Given the description of an element on the screen output the (x, y) to click on. 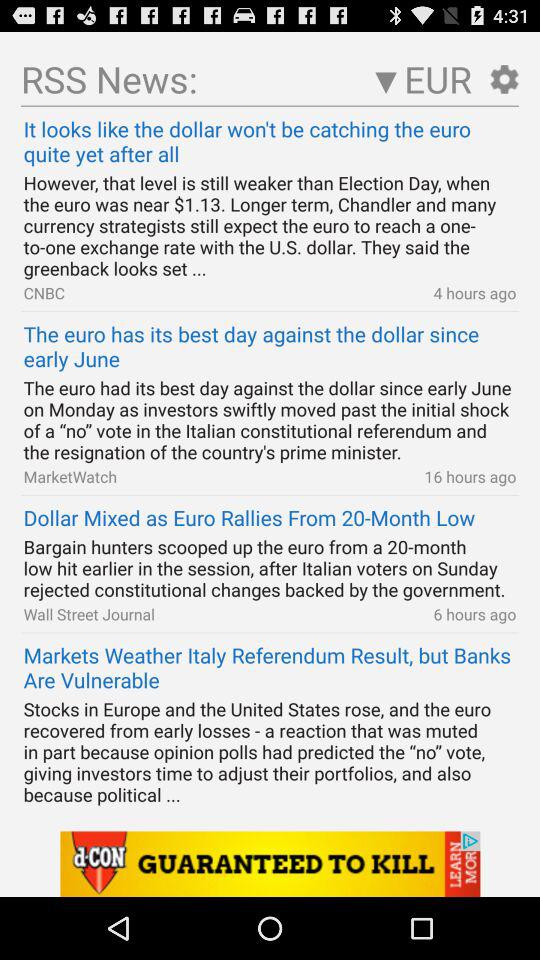
go to an advertisement (270, 864)
